Given the description of an element on the screen output the (x, y) to click on. 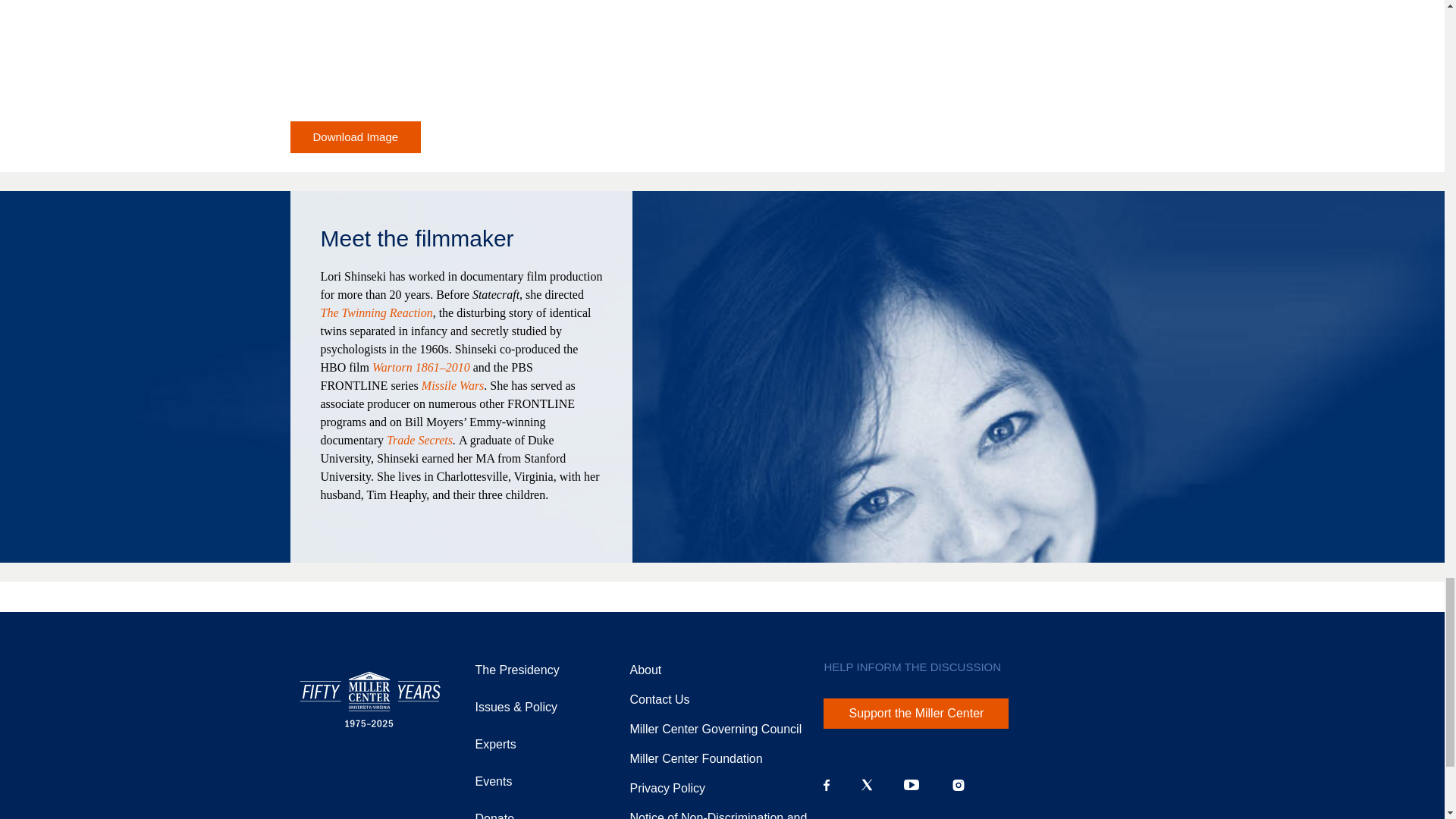
Support (694, 758)
Home (369, 698)
Miller Center Web Privacy Policy (666, 788)
